Given the description of an element on the screen output the (x, y) to click on. 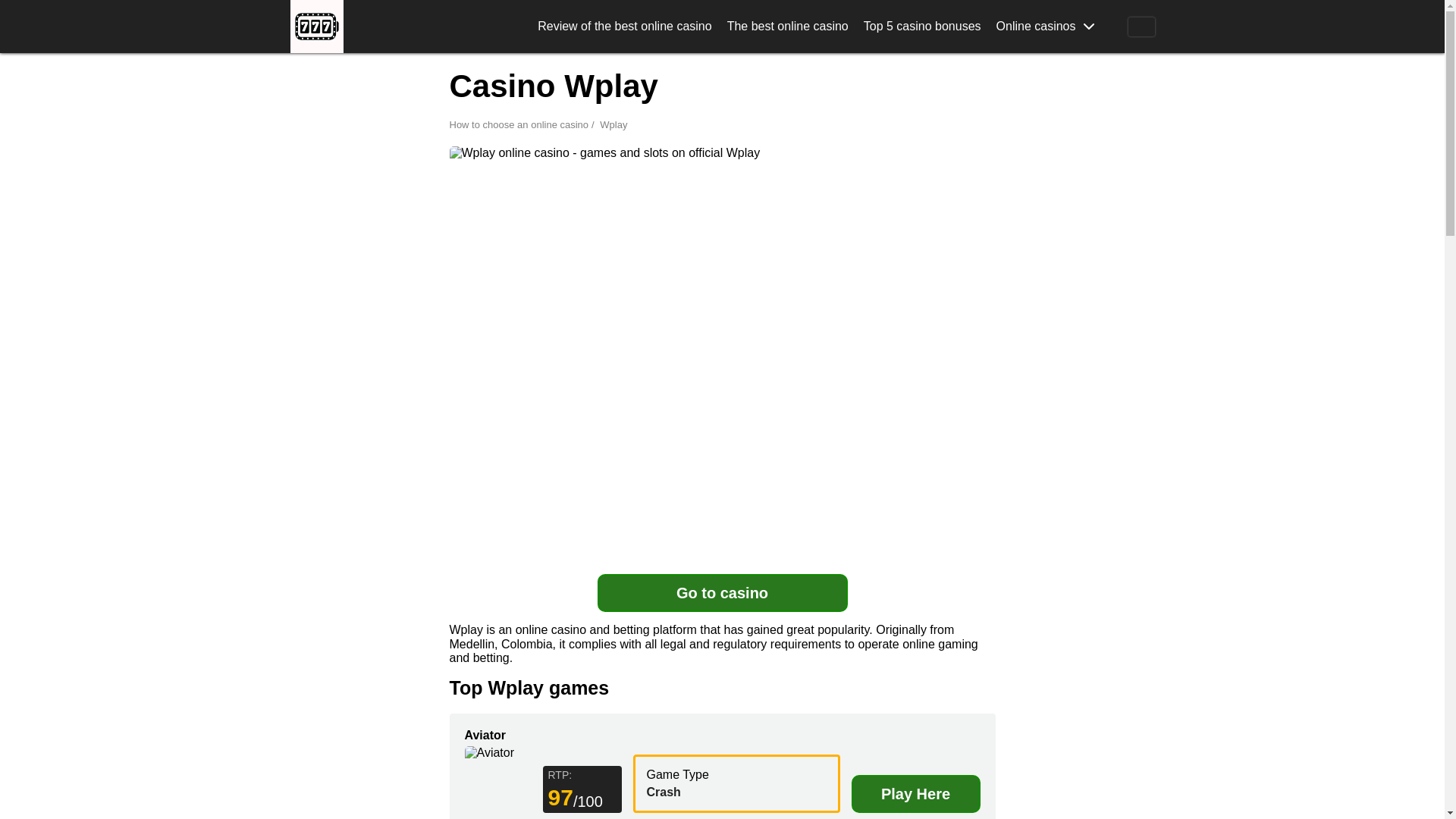
Review of the best online casino (624, 26)
The best online casino (787, 26)
The best online casinos in Latin America in 2023 (315, 26)
The best online casinos (787, 26)
Play Here (914, 793)
Top 5 casino bonuses (922, 26)
How to choose an online casino (522, 124)
Go to casino (721, 592)
Review of the best online casino (624, 26)
Top 5 casino bonuses (922, 26)
